Given the description of an element on the screen output the (x, y) to click on. 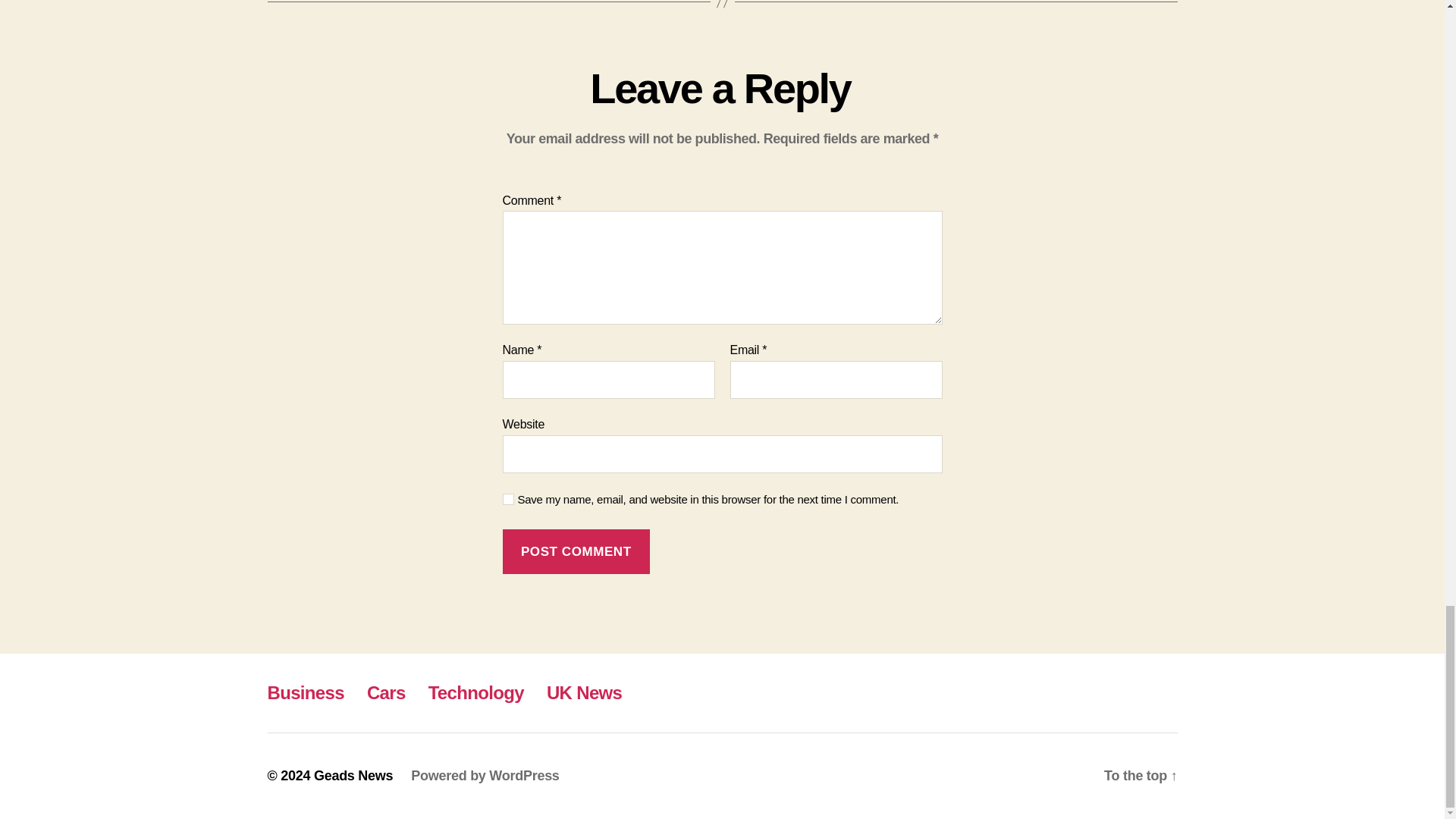
Post Comment (575, 551)
Post Comment (575, 551)
Business (304, 692)
Cars (386, 692)
yes (507, 499)
UK News (584, 692)
Technology (476, 692)
